Given the description of an element on the screen output the (x, y) to click on. 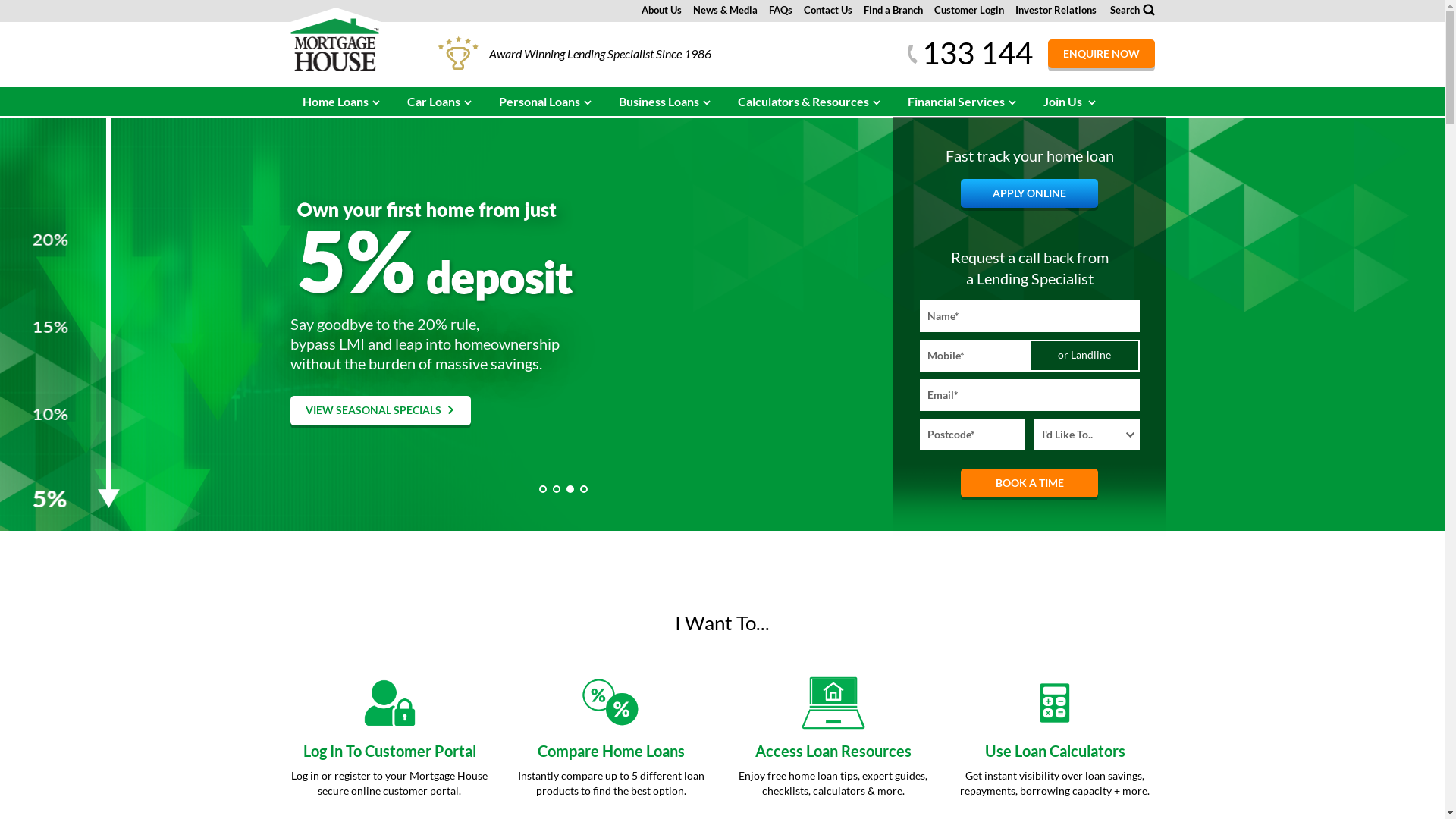
News & Media Element type: text (725, 9)
Use Loan Calculators Element type: text (1055, 750)
Contact Us Element type: text (827, 9)
APPLY ONLINE Element type: text (1029, 192)
Book A Time Element type: text (1029, 482)
Calculators & Resources Element type: text (809, 101)
About Us Element type: text (661, 9)
Find a Branch Element type: text (892, 9)
Log In To Customer Portal Element type: text (389, 750)
Investor Relations Element type: text (1054, 9)
Personal Loans Element type: text (545, 101)
ENQUIRE NOW Element type: text (1101, 53)
Access Loan Resources Element type: text (833, 750)
Compare Home Loans Element type: text (610, 750)
FAQs Element type: text (780, 9)
COMPARE NOW Element type: text (352, 421)
Join Us Element type: text (1070, 101)
I'd Like To.. Element type: text (1086, 434)
Car Loans Element type: text (439, 101)
Financial Services Element type: text (961, 101)
Home Loans Element type: text (340, 101)
Customer Login Element type: text (969, 9)
Business Loans Element type: text (665, 101)
